Given the description of an element on the screen output the (x, y) to click on. 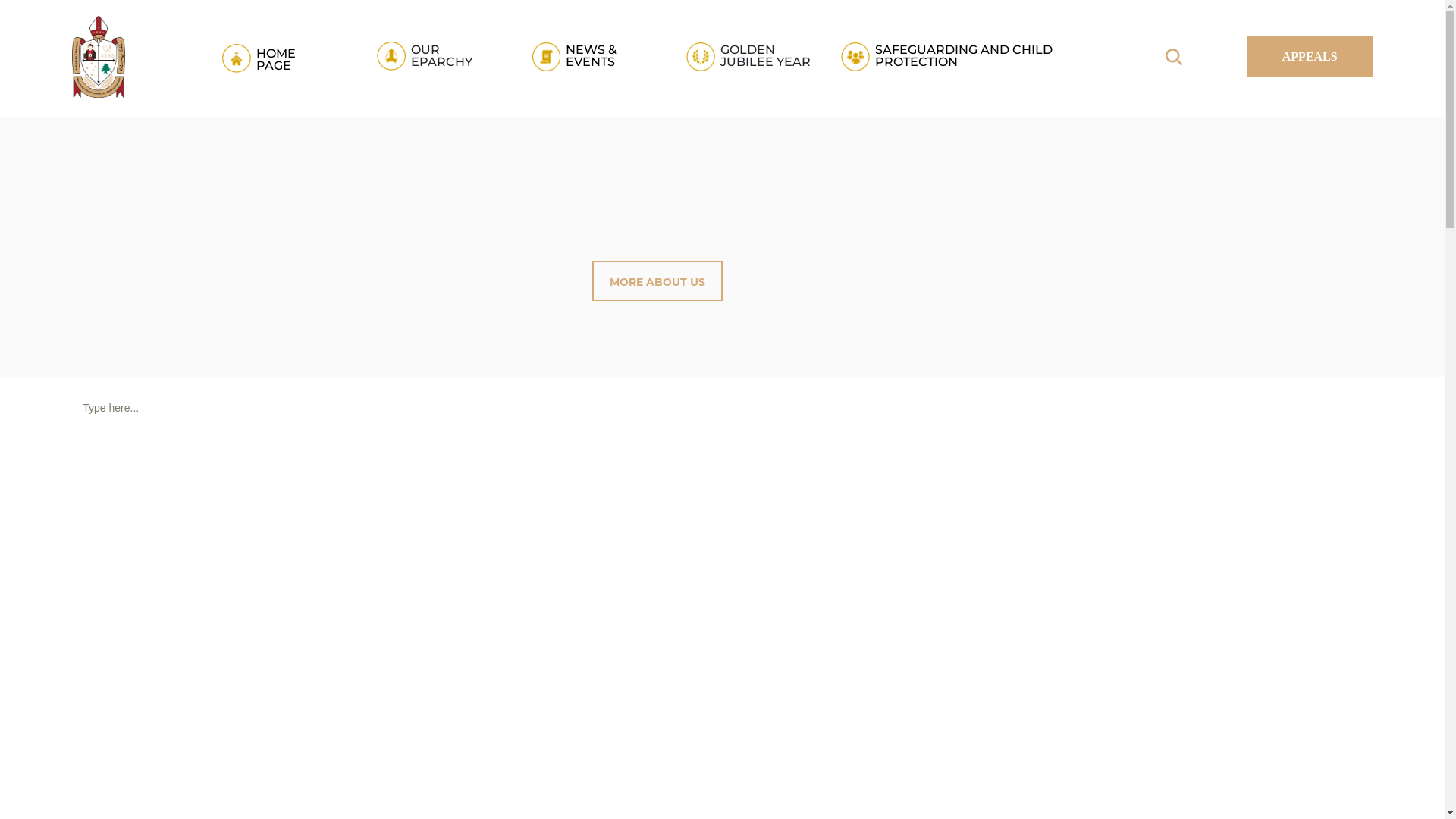
OUR EPARCHY Element type: text (430, 55)
APPEALS Element type: text (1309, 56)
HOME PAGE Element type: text (276, 56)
OUR BISHOP Element type: text (485, 108)
GOLDEN JUBILEE YEAR Element type: text (752, 55)
MORE ABOUT US Element type: text (657, 280)
NEWS & EVENTS Element type: text (585, 55)
SAFEGUARDING AND CHILD PROTECTION Element type: text (954, 55)
GOLDEN JUBILEE YEAR Element type: text (780, 108)
